Given the description of an element on the screen output the (x, y) to click on. 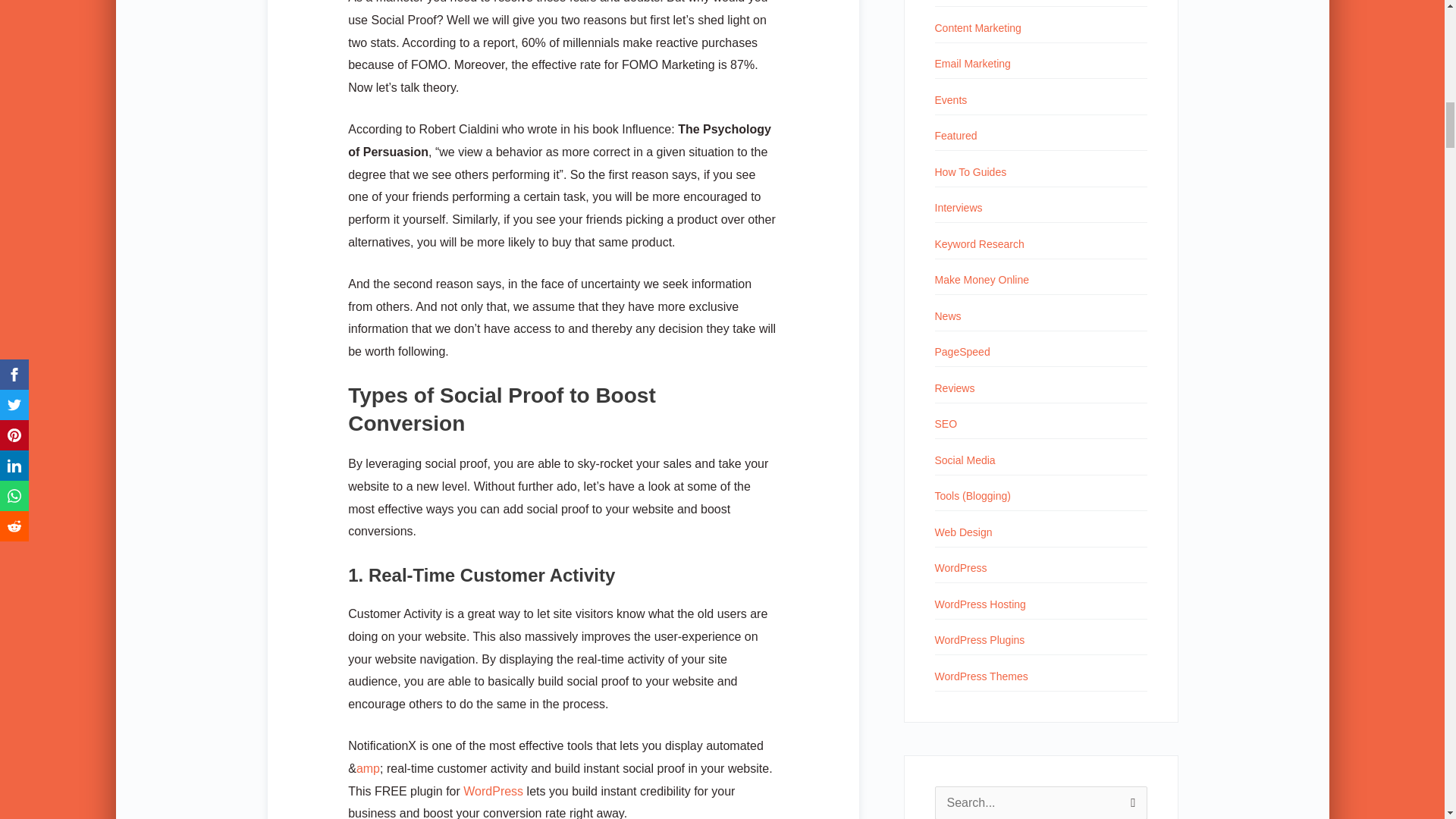
amp (368, 768)
WordPress (492, 790)
WordPress (492, 790)
Search (1130, 802)
Search (1130, 802)
amp (368, 768)
